Given the description of an element on the screen output the (x, y) to click on. 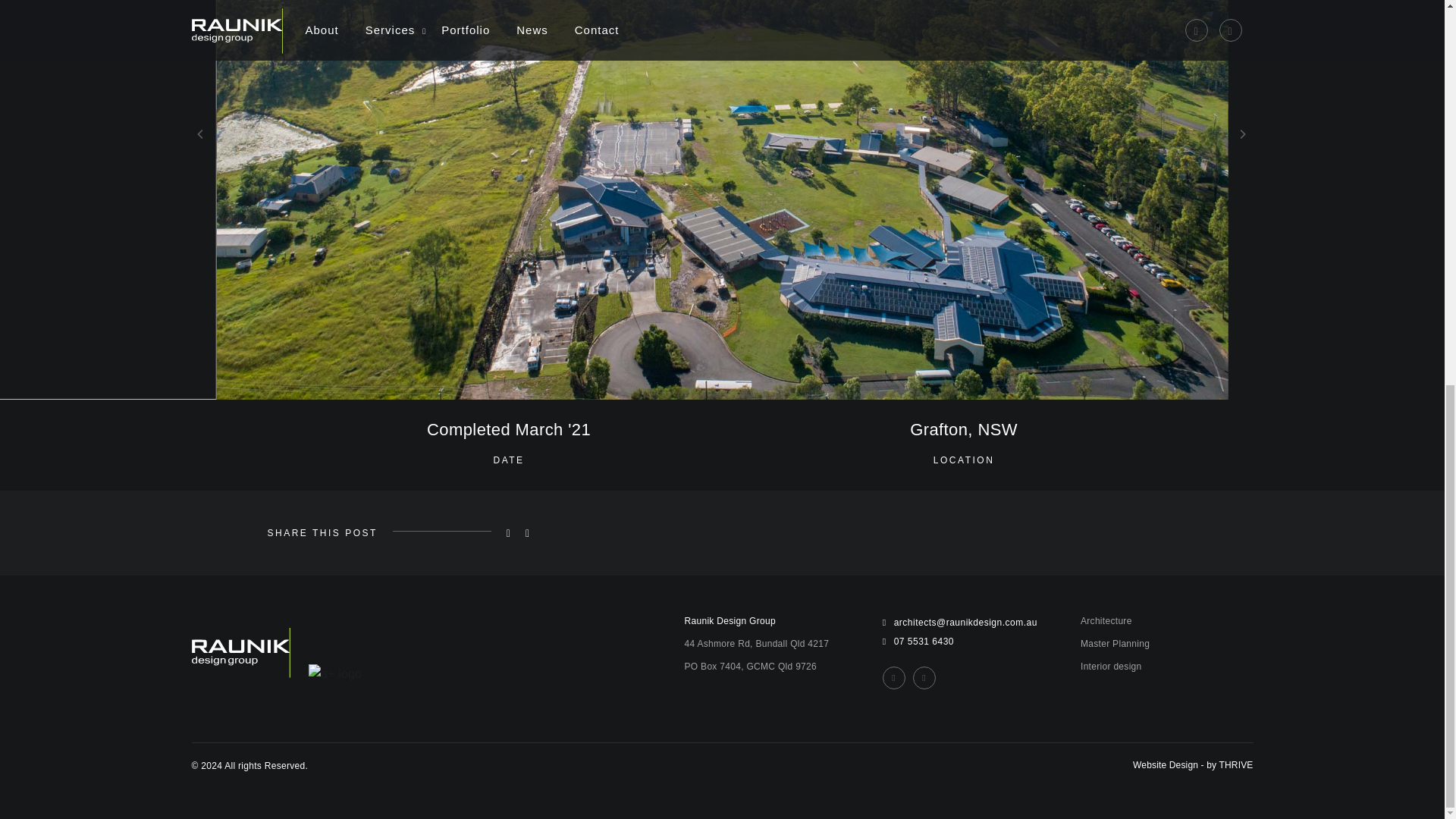
Interior design (1166, 666)
07 5531 6430 (968, 641)
Master Planning (1166, 643)
Architecture (1166, 620)
website design (1165, 765)
Website Design (1165, 765)
